Given the description of an element on the screen output the (x, y) to click on. 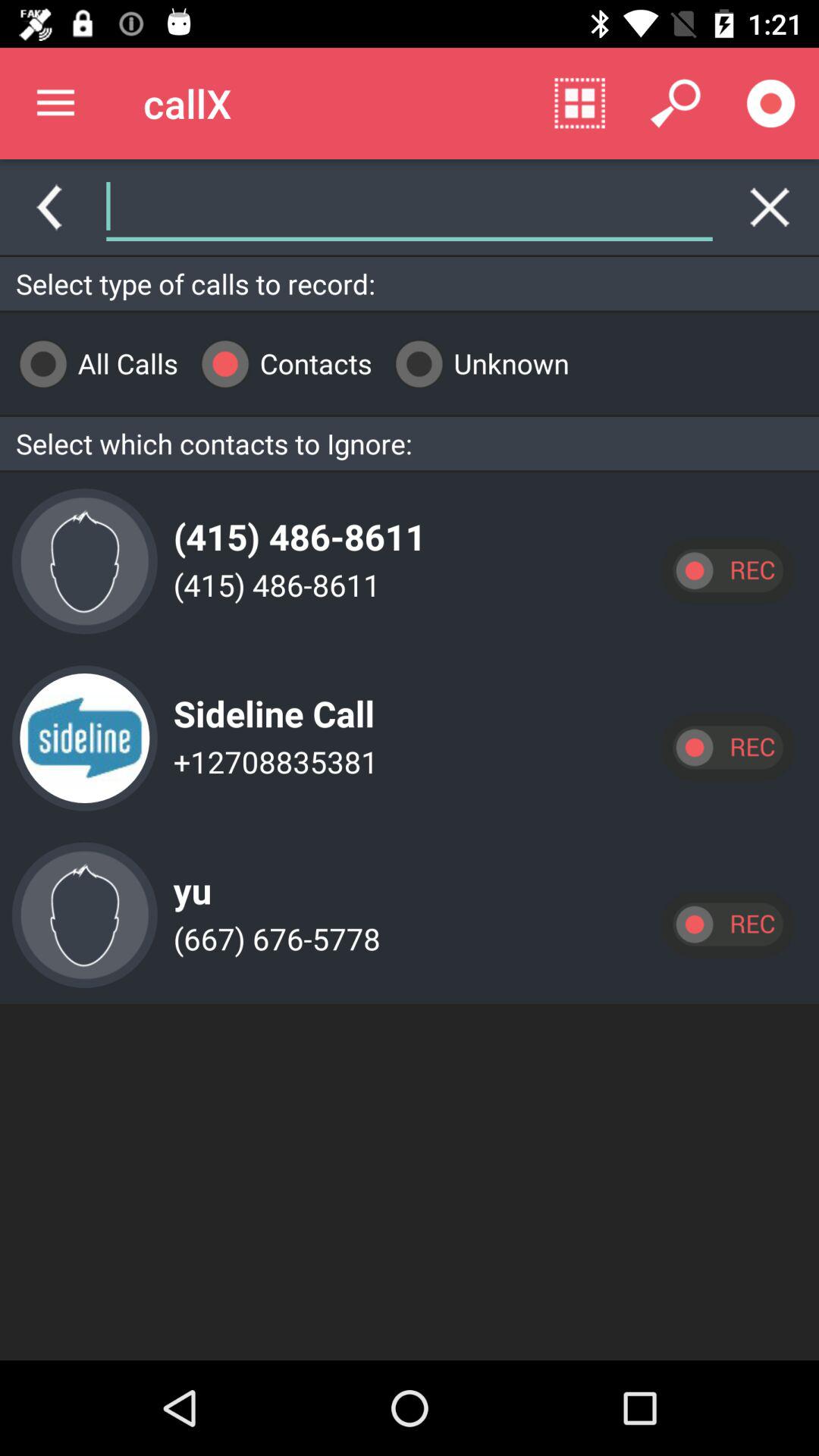
press the sideline call app (269, 701)
